Given the description of an element on the screen output the (x, y) to click on. 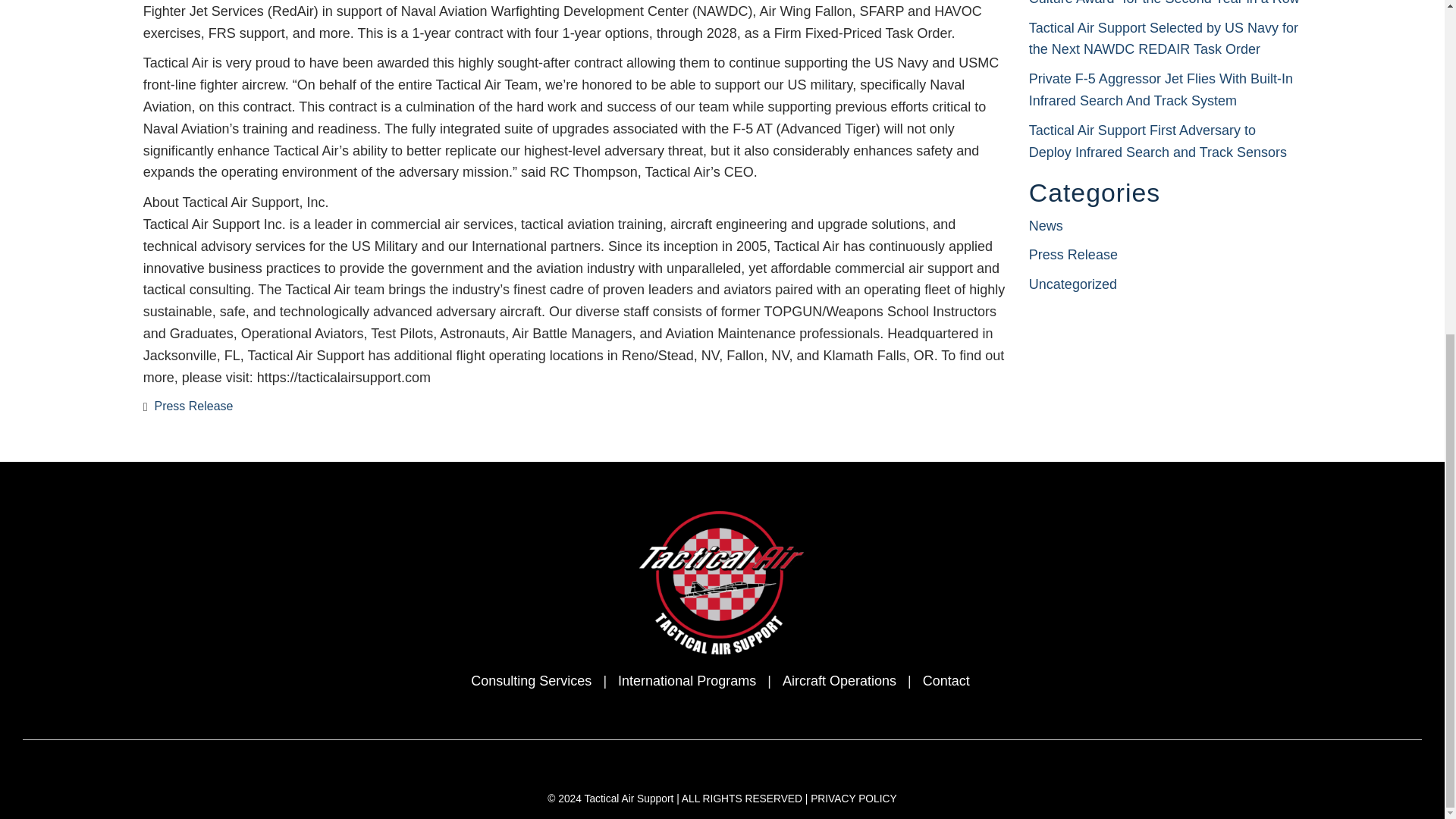
Contact (946, 680)
Consulting Services (530, 680)
News (1045, 225)
Uncategorized (1072, 283)
International Programs (686, 680)
Press Release (1073, 254)
Aircraft Operations (839, 680)
Press Release (193, 405)
PRIVACY POLICY (853, 798)
